Given the description of an element on the screen output the (x, y) to click on. 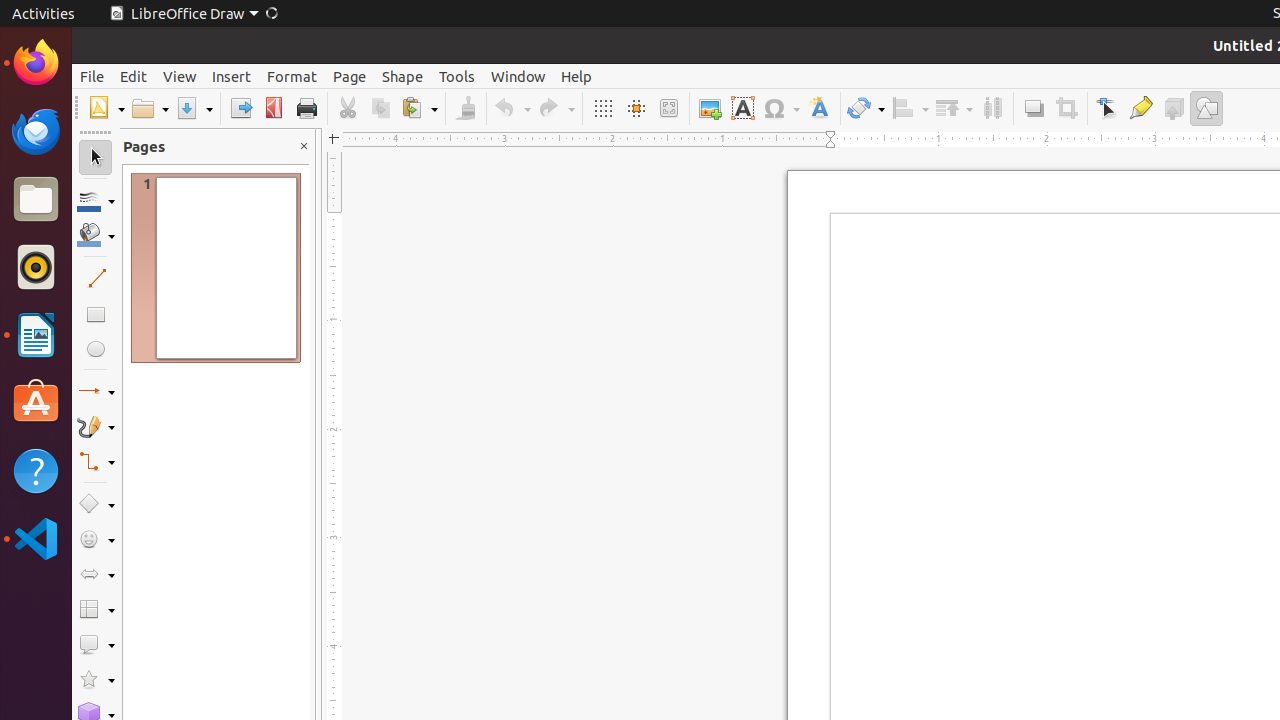
Tools Element type: menu (457, 76)
Ellipse Element type: push-button (95, 348)
Fill Color Element type: push-button (259, 144)
Align Element type: push-button (910, 108)
Format Element type: menu (292, 76)
